Given the description of an element on the screen output the (x, y) to click on. 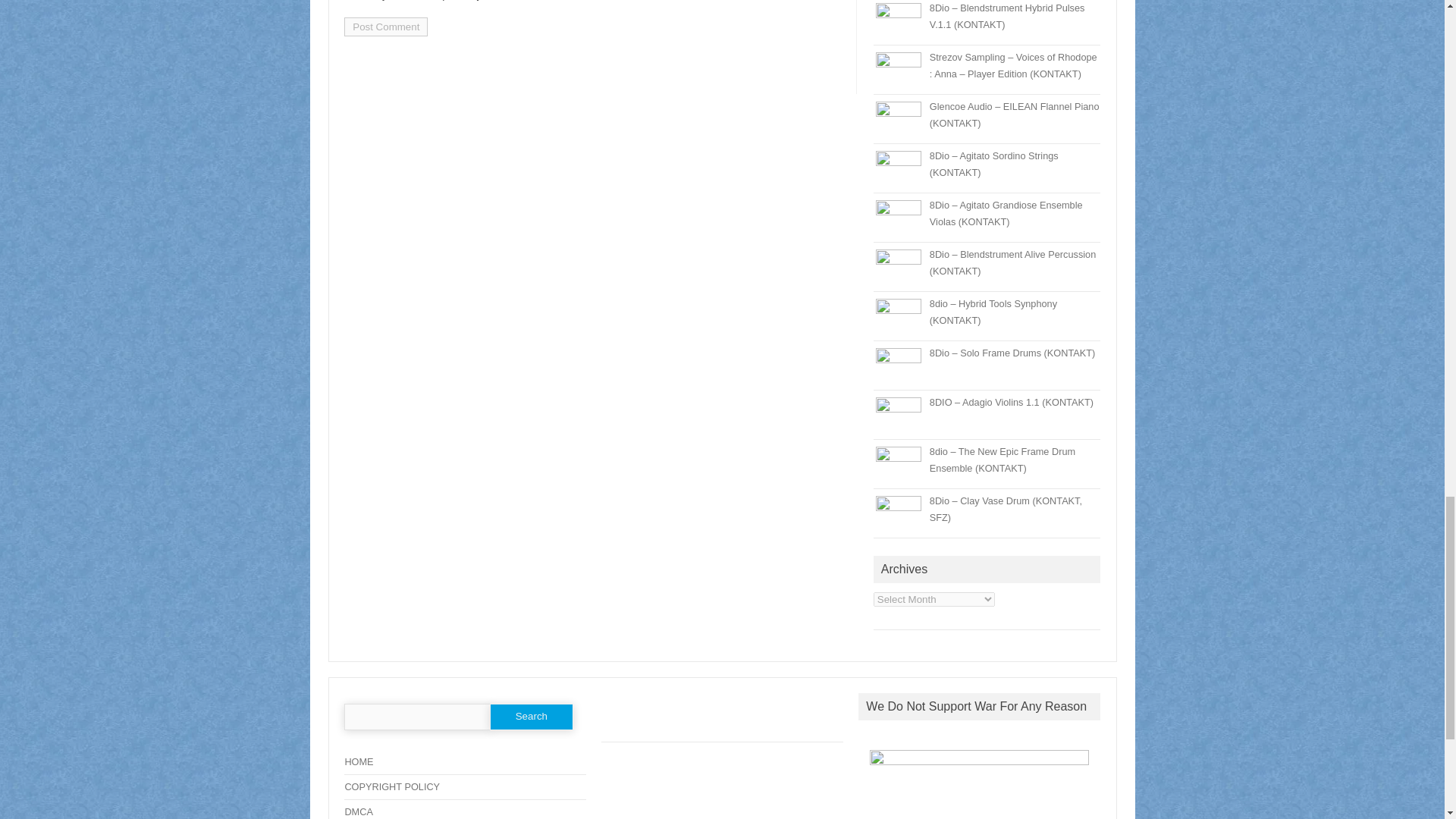
Search (530, 716)
Post Comment (385, 26)
Post Comment (385, 26)
